Given the description of an element on the screen output the (x, y) to click on. 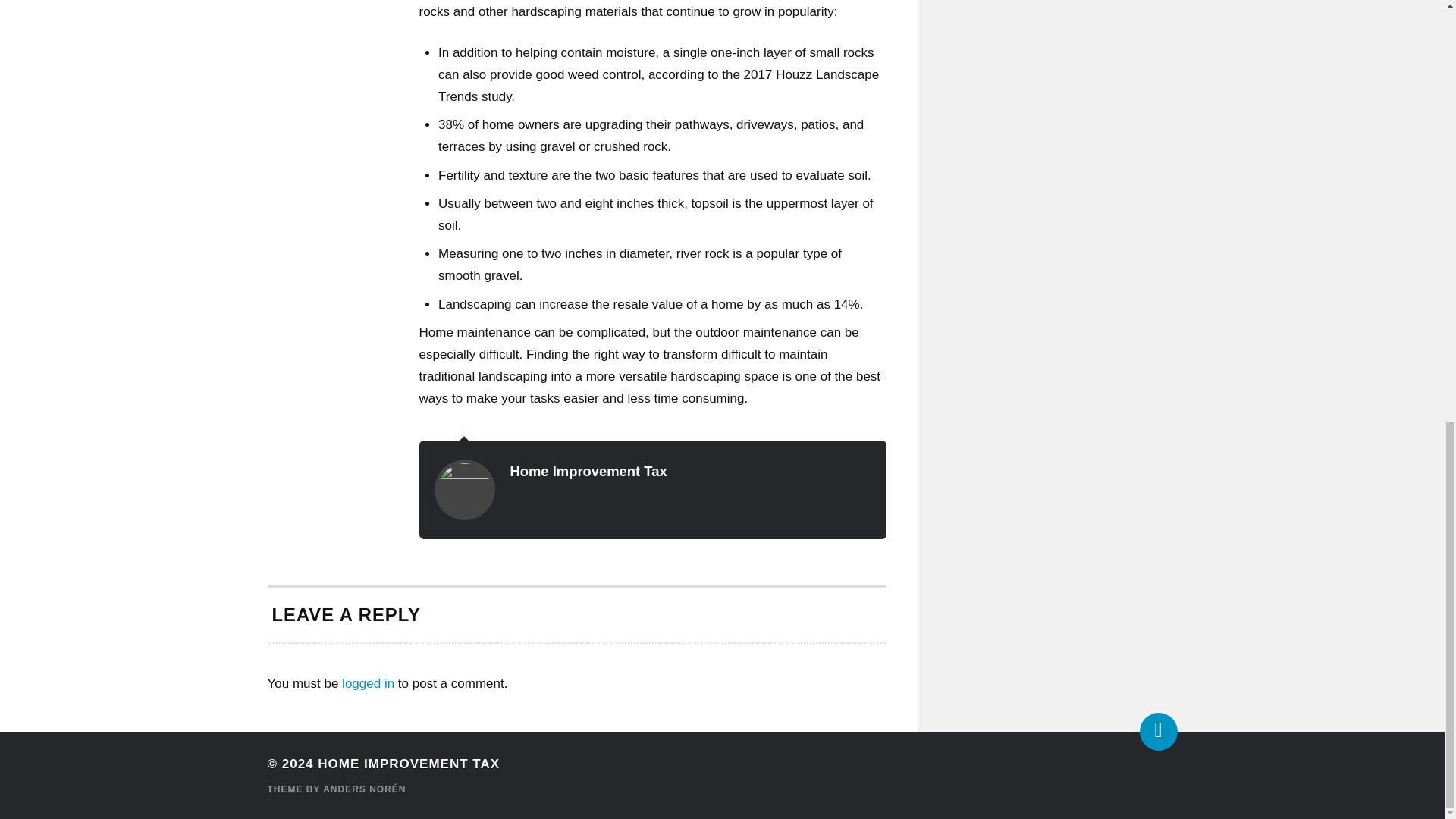
logged in (368, 683)
HOME IMPROVEMENT TAX (408, 763)
Home Improvement Tax (587, 471)
